Given the description of an element on the screen output the (x, y) to click on. 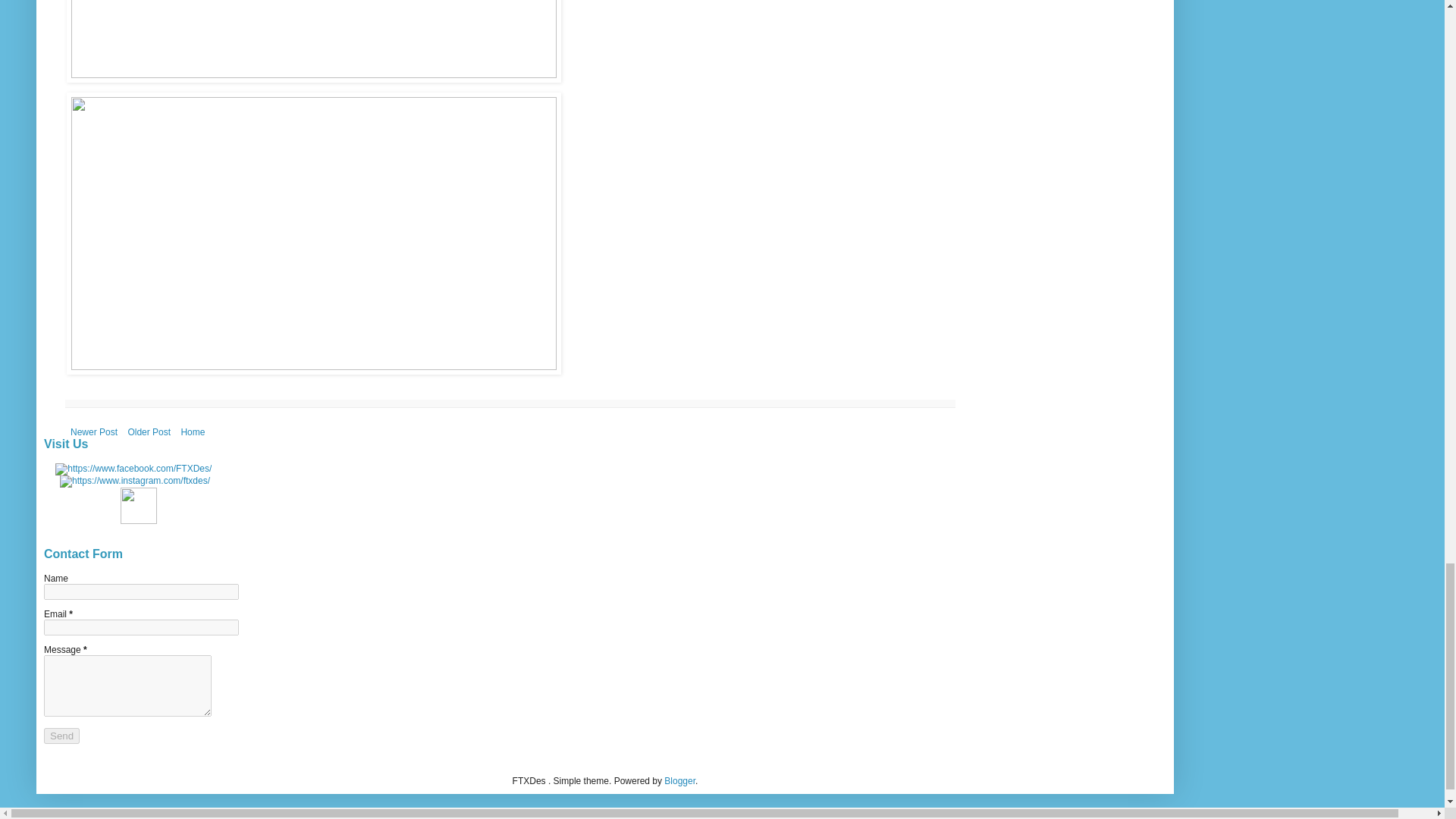
Older Post (148, 432)
Newer Post (93, 432)
Newer Post (93, 432)
Home (192, 432)
Blogger (679, 780)
Older Post (148, 432)
Send (61, 735)
